Given the description of an element on the screen output the (x, y) to click on. 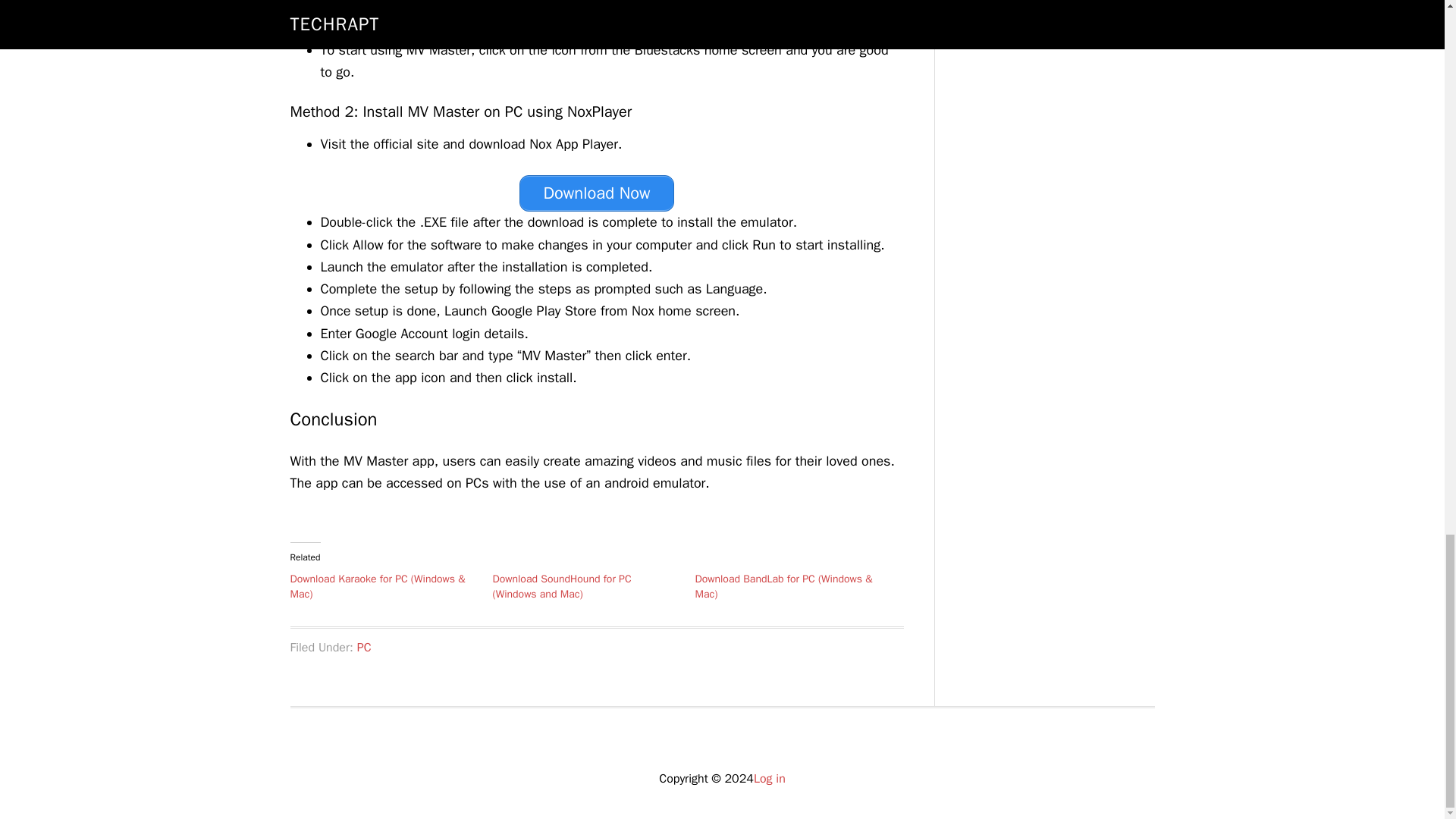
PC (363, 647)
Download Now (595, 193)
Log in (770, 778)
